Given the description of an element on the screen output the (x, y) to click on. 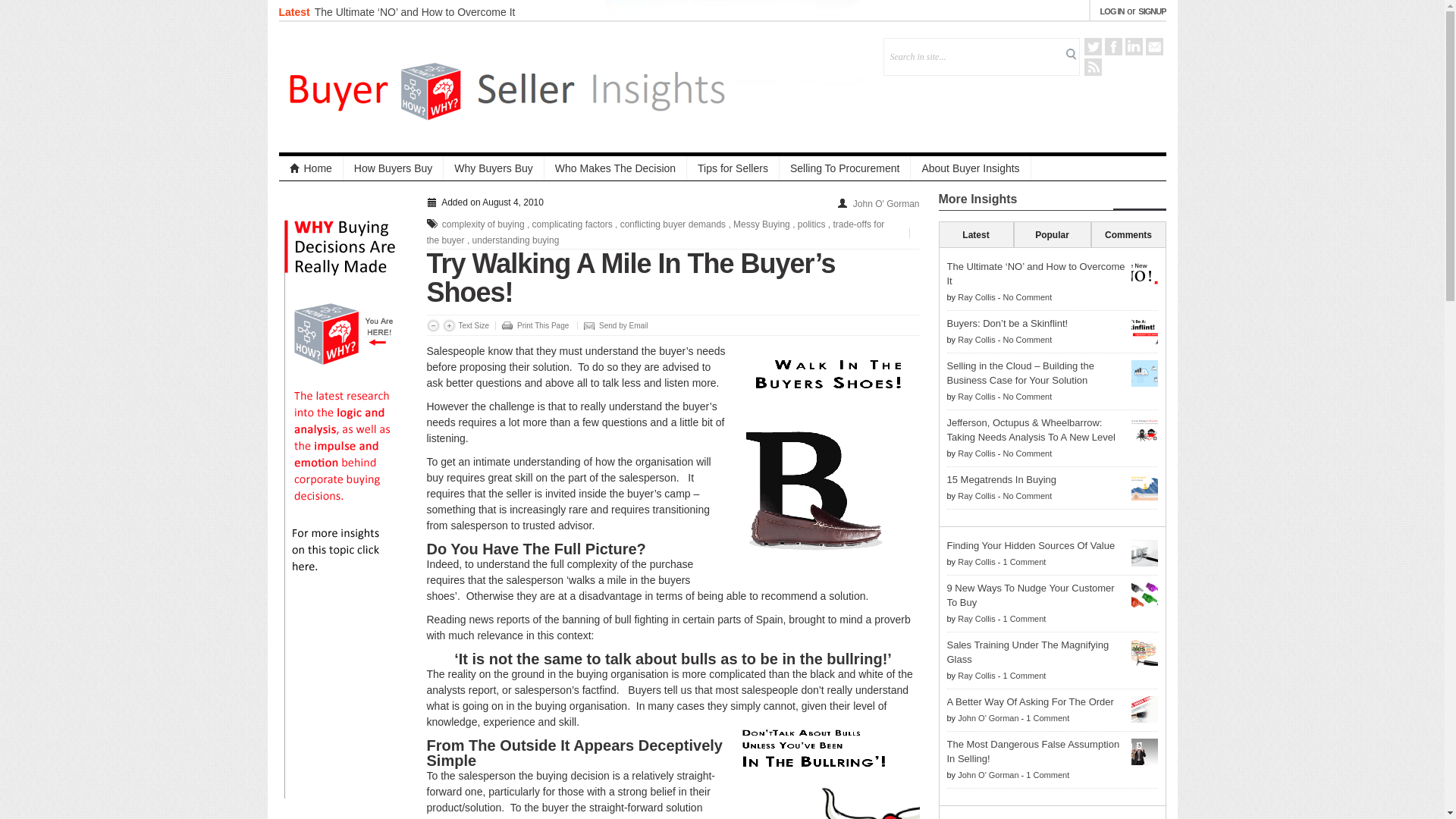
Search in site... (973, 56)
Connect on Facebook (1112, 46)
Email (1152, 46)
Facebook (1112, 46)
Follow on Twitter (1093, 46)
How Buyers Buy (393, 168)
Connect on LinkedIn (1133, 46)
Buyer Insights (506, 86)
Why Buyers Buy (493, 168)
Home (311, 168)
RSS (1093, 67)
Twitter (1093, 46)
LinkedIn (1133, 46)
SIGNUP (1152, 10)
LOG IN (1112, 10)
